Given the description of an element on the screen output the (x, y) to click on. 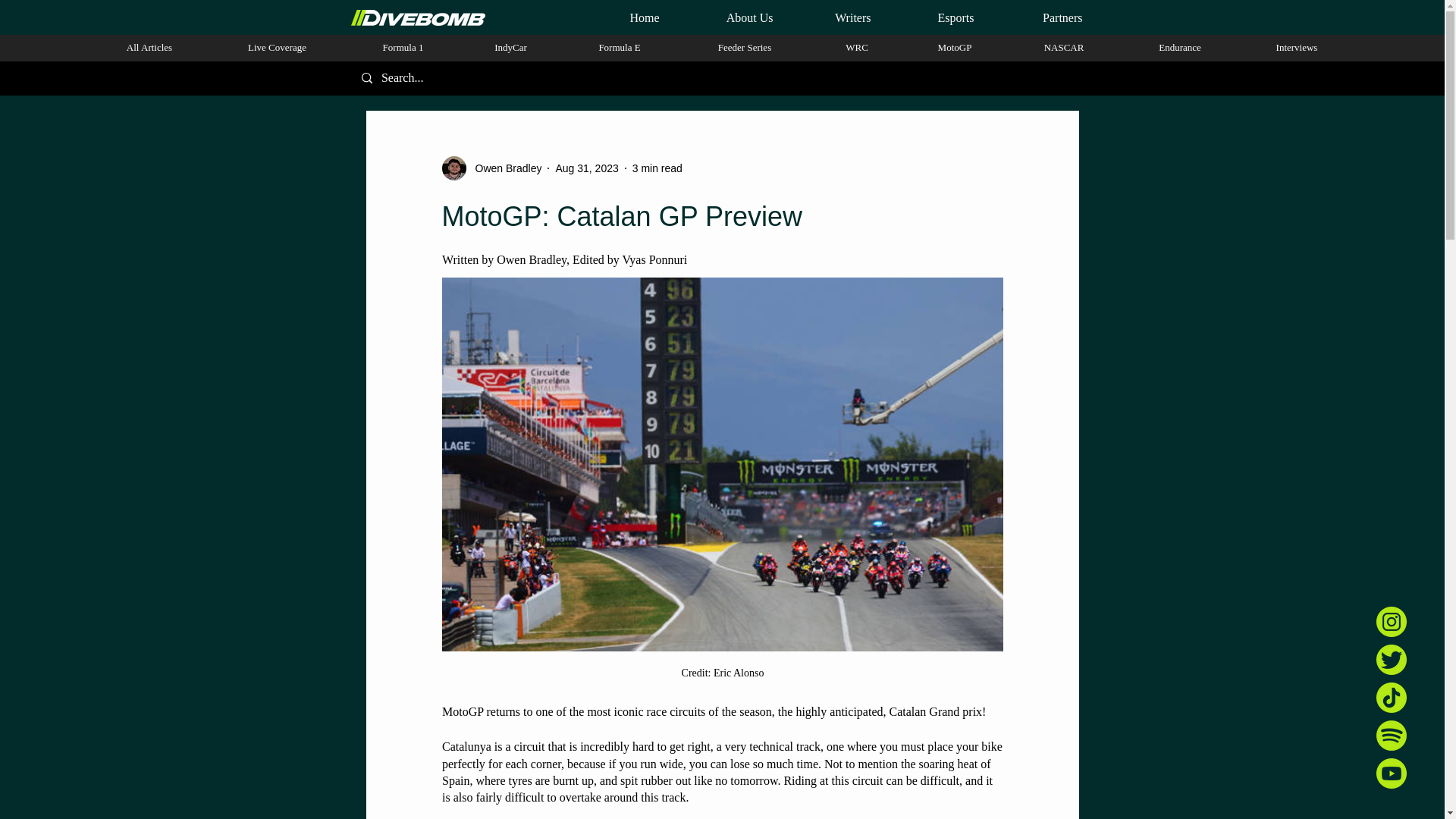
Formula 1 (403, 47)
Owen Bradley (503, 168)
WRC (856, 47)
NASCAR (1063, 47)
All Articles (149, 47)
Home (624, 17)
Endurance (1179, 47)
Aug 31, 2023 (585, 168)
Feeder Series (744, 47)
Esports (933, 17)
